Given the description of an element on the screen output the (x, y) to click on. 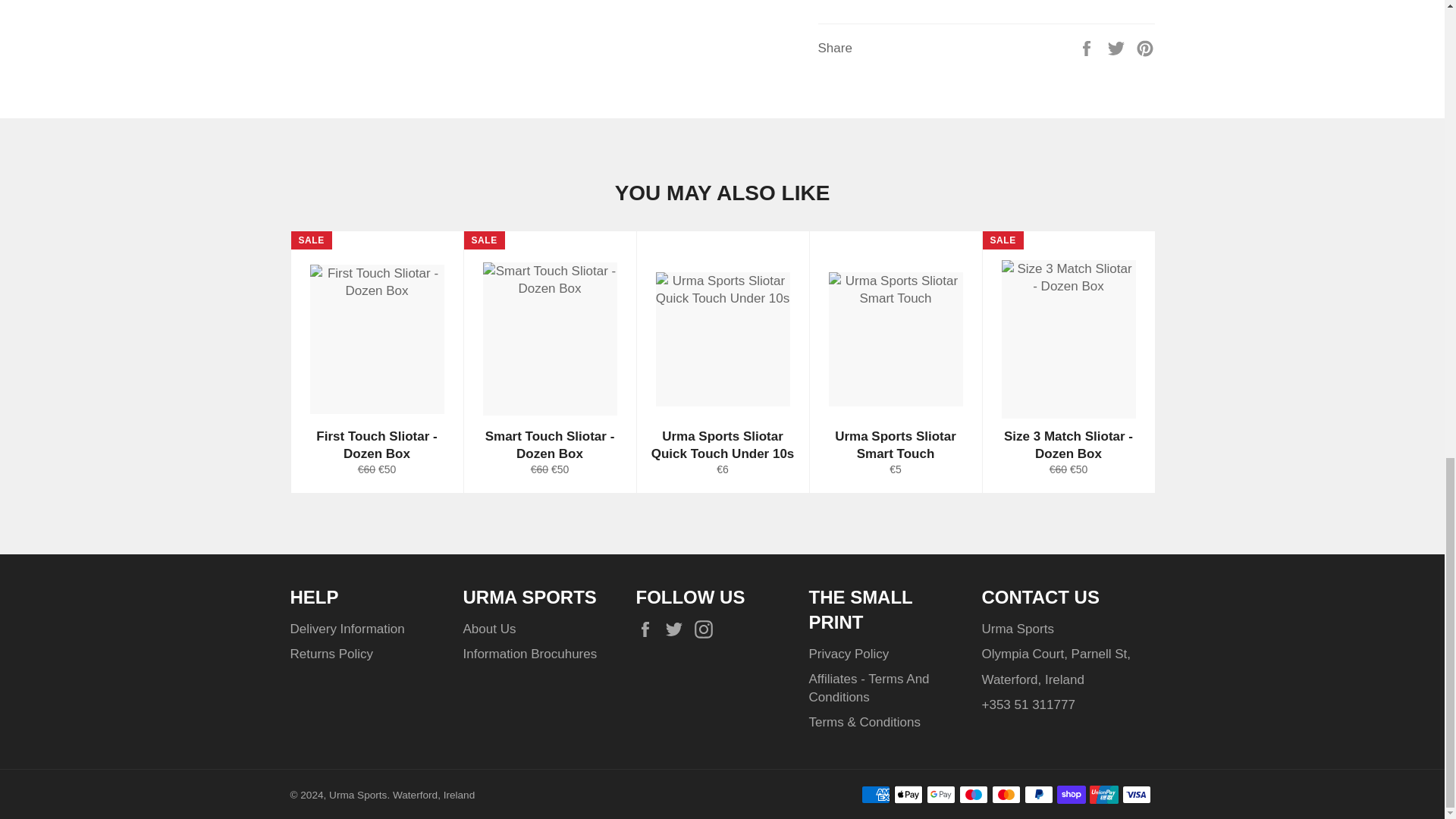
Urma Sports on Facebook (647, 629)
Tweet on Twitter (1117, 47)
Share on Facebook (1088, 47)
Pin on Pinterest (1144, 47)
Urma Sports on Instagram (707, 629)
Urma Sports on Twitter (677, 629)
